Given the description of an element on the screen output the (x, y) to click on. 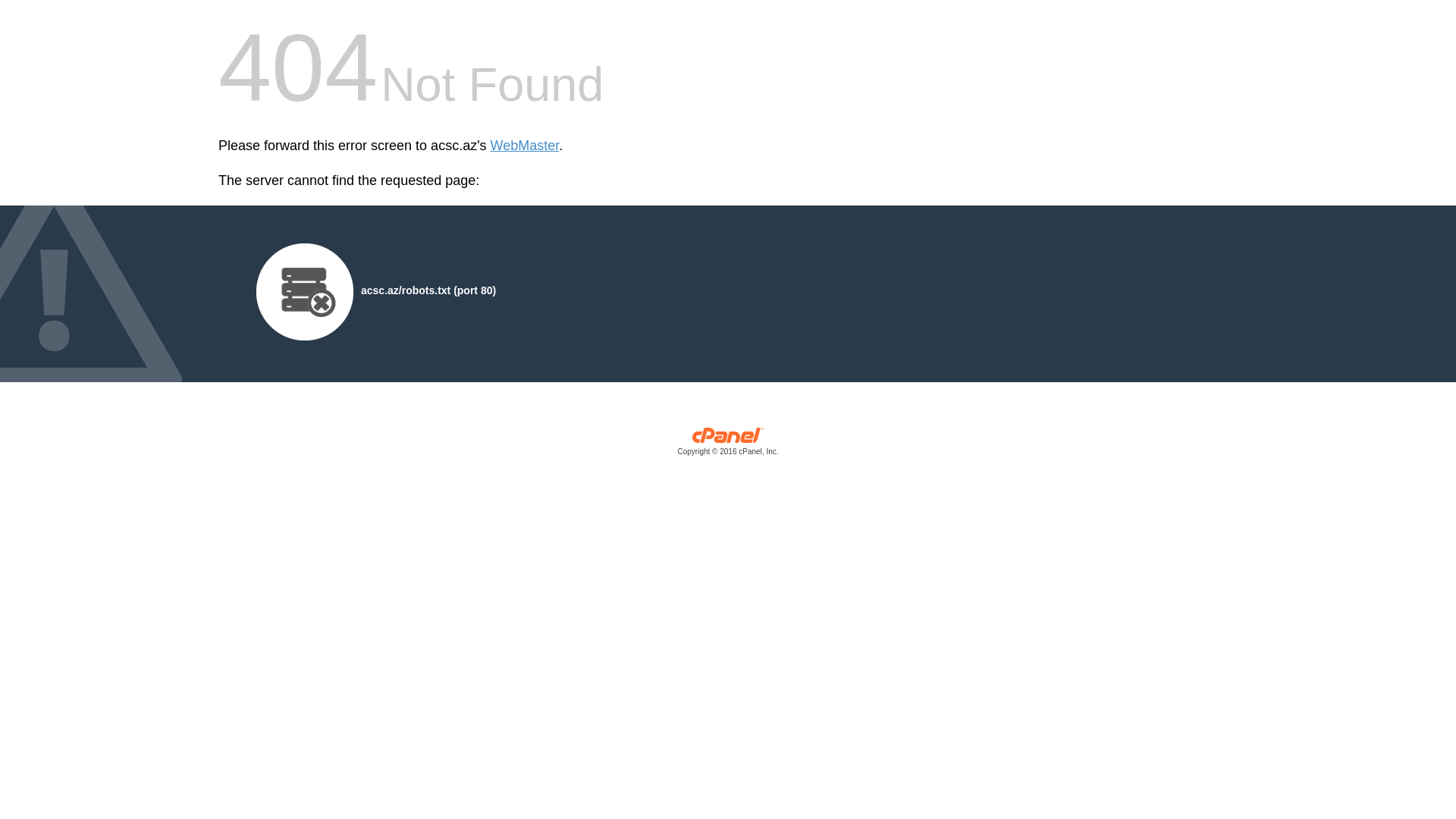
WebMaster Element type: text (524, 145)
